Given the description of an element on the screen output the (x, y) to click on. 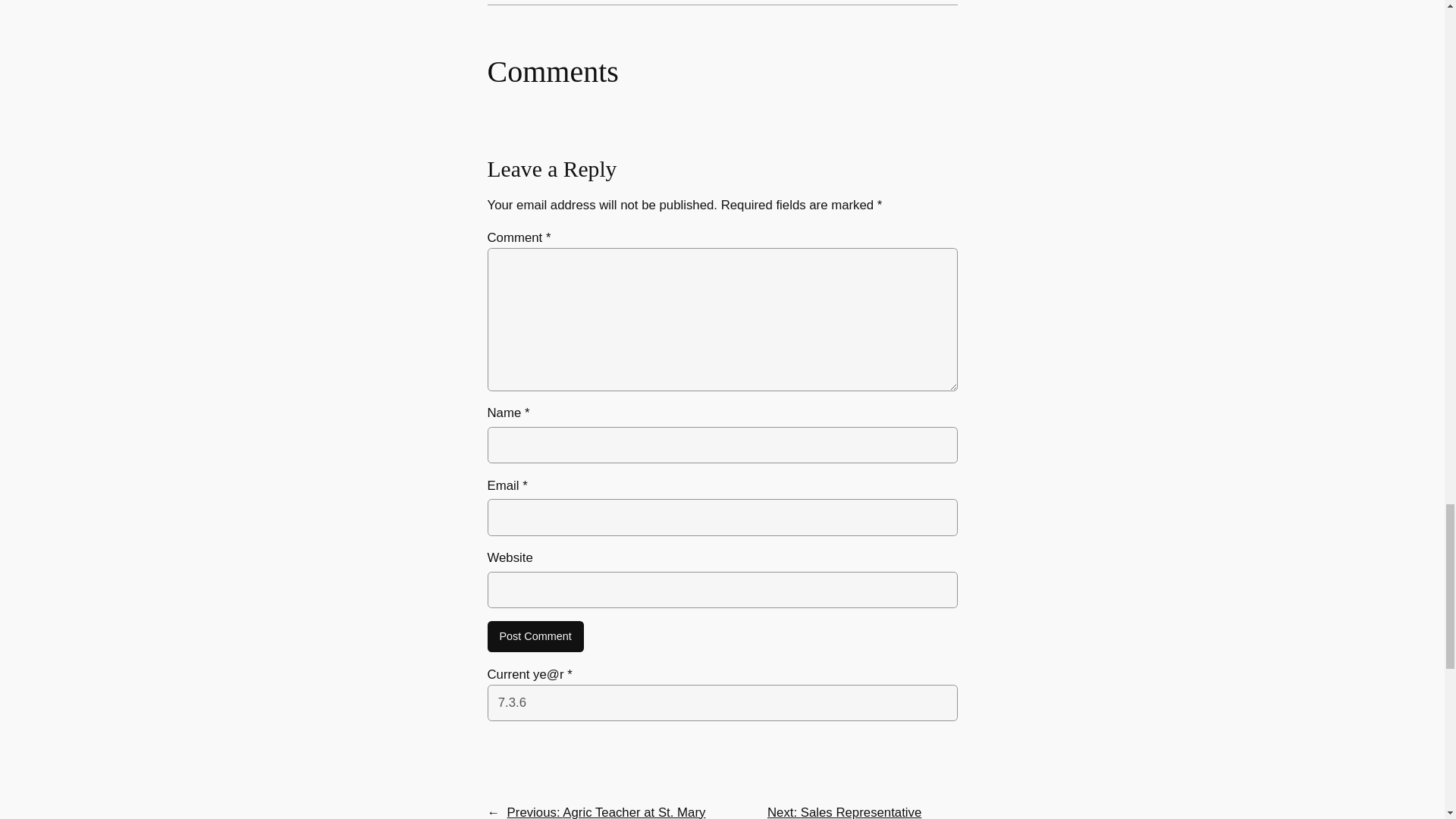
Post Comment (534, 636)
Post Comment (534, 636)
7.3.6 (721, 702)
